Given the description of an element on the screen output the (x, y) to click on. 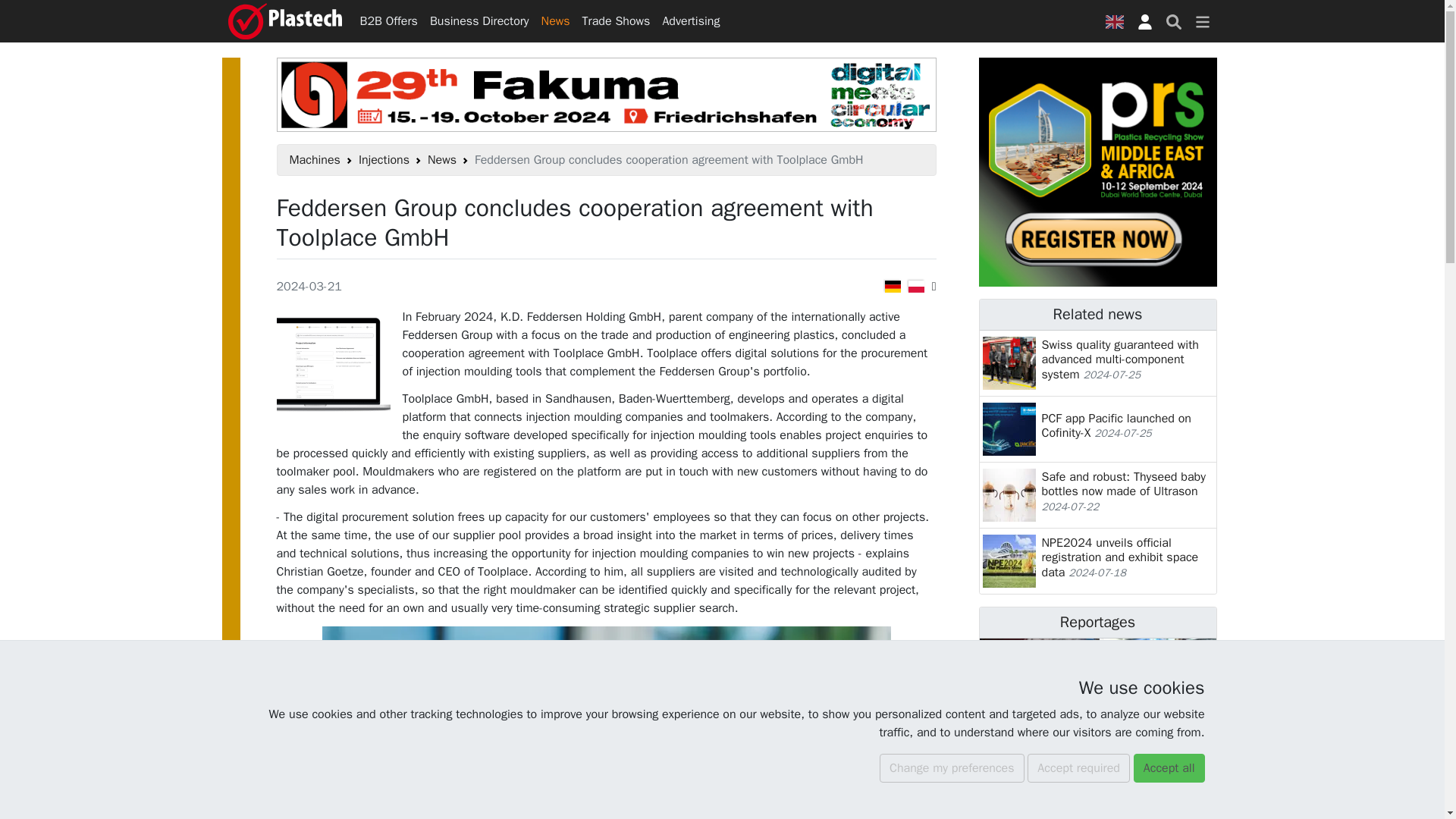
Plastech (283, 21)
B2B Offers (388, 20)
Injection moduling machines (383, 159)
Trade Shows (616, 20)
News (555, 20)
Injections (383, 159)
Sign in (1143, 21)
Machines (314, 159)
Business Directory (479, 20)
Advertising (690, 20)
Machines (314, 159)
Plastech (283, 21)
